Given the description of an element on the screen output the (x, y) to click on. 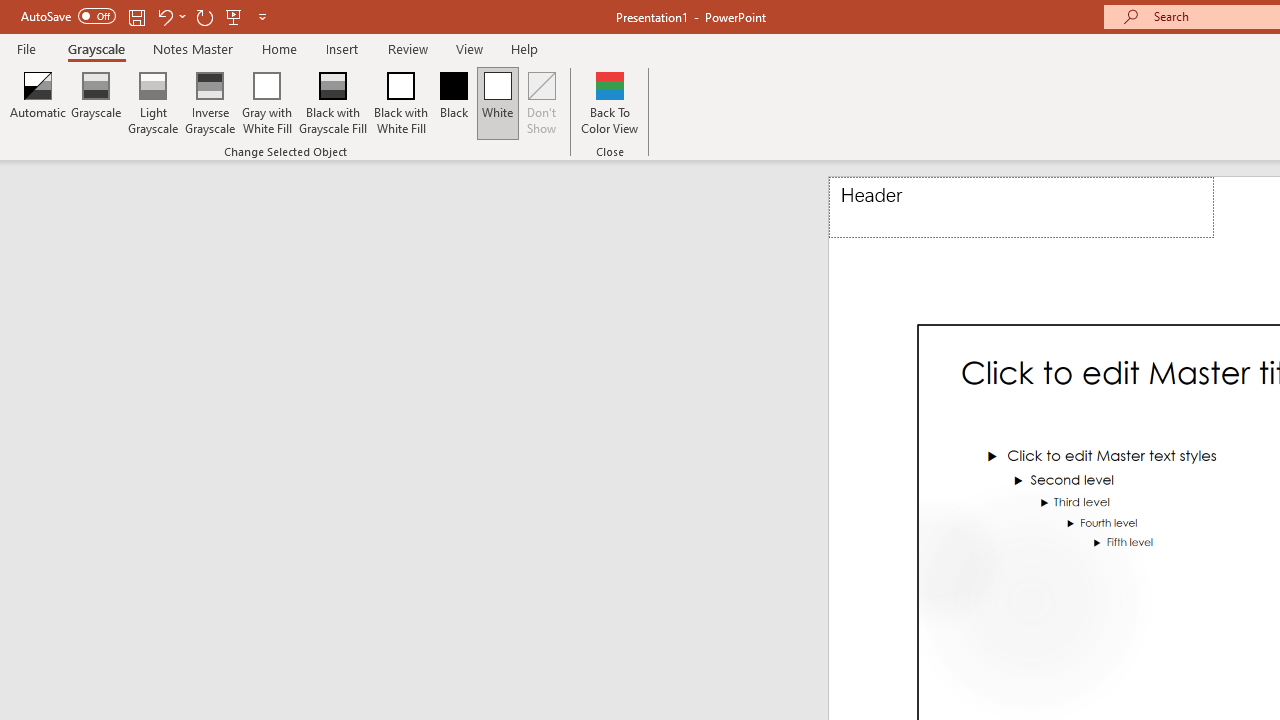
Black (453, 102)
Back To Color View (609, 102)
Black with Grayscale Fill (332, 102)
Light Grayscale (152, 102)
Black with White Fill (401, 102)
Automatic (38, 102)
